Given the description of an element on the screen output the (x, y) to click on. 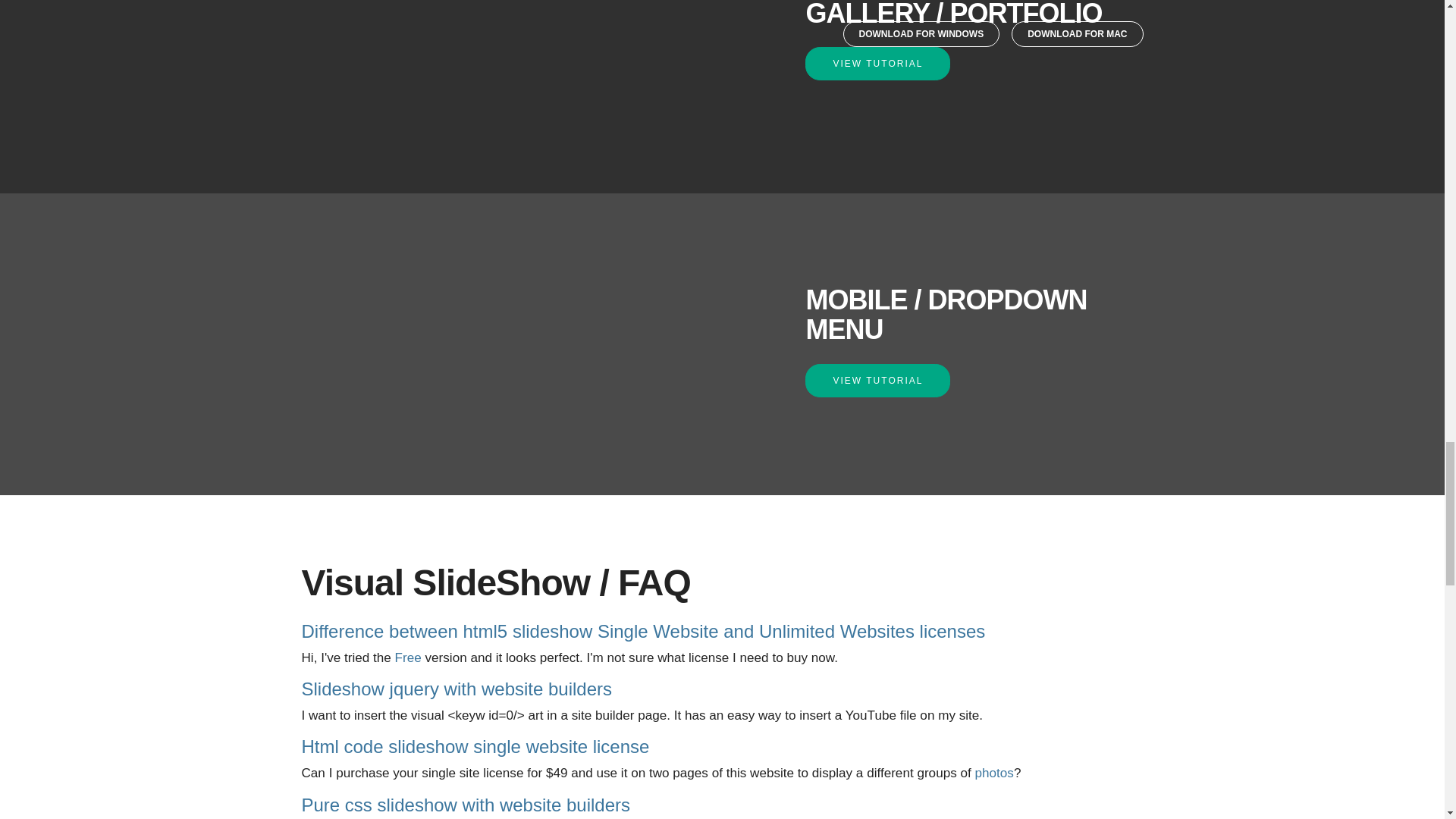
VIEW TUTORIAL (877, 380)
Slideshow jquery with website builders (456, 688)
Html code slideshow single website license (475, 746)
Free (408, 657)
photos (994, 772)
Pure css slideshow with website builders (465, 804)
VIEW TUTORIAL (877, 63)
